Given the description of an element on the screen output the (x, y) to click on. 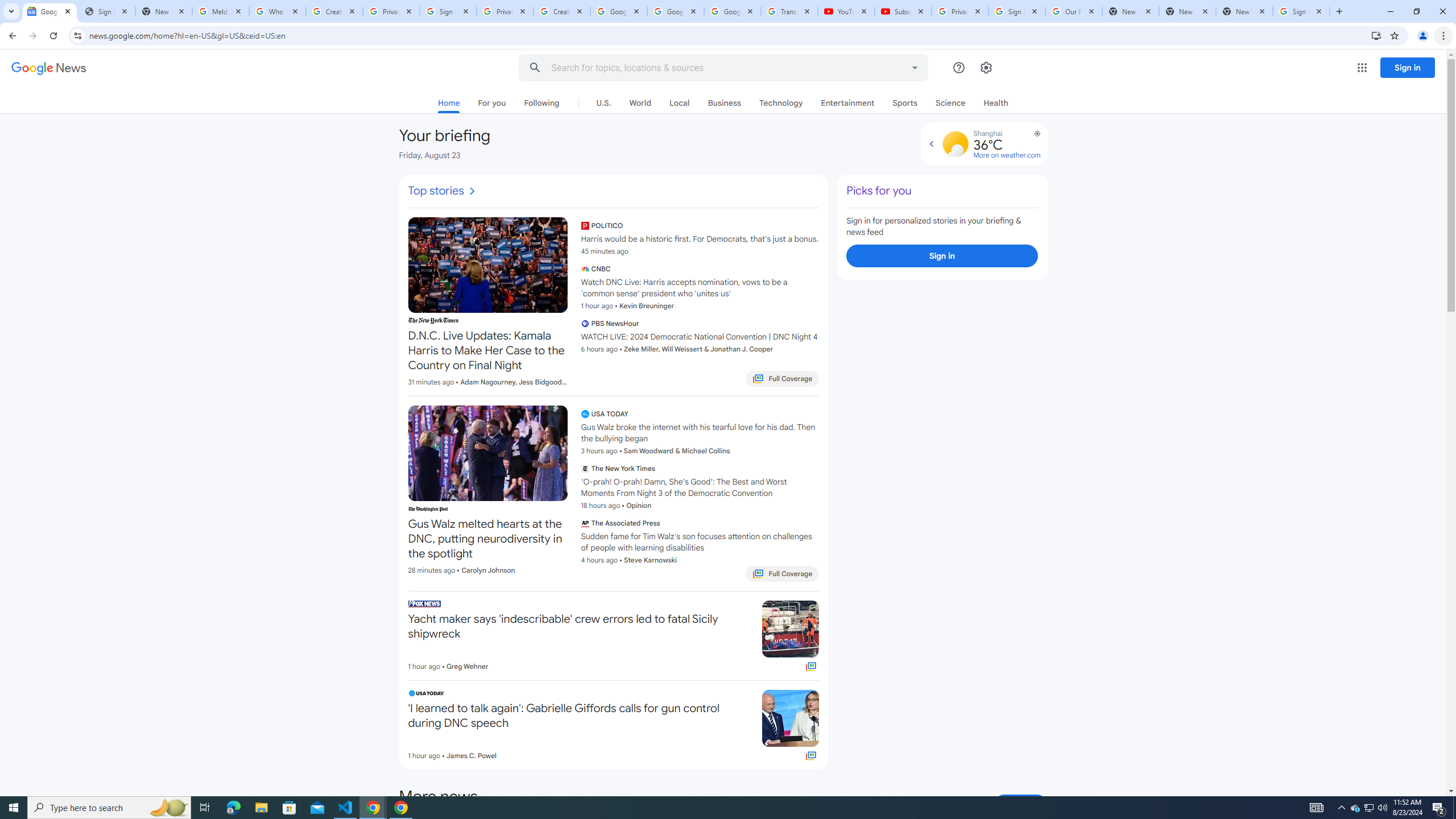
Sign In - USA TODAY (105, 11)
U.S. (603, 102)
Advanced search (914, 65)
Sign in - Google Accounts (1301, 11)
Who is my administrator? - Google Account Help (277, 11)
Create your Google Account (561, 11)
Create your Google Account (334, 11)
Full Coverage (811, 755)
